Given the description of an element on the screen output the (x, y) to click on. 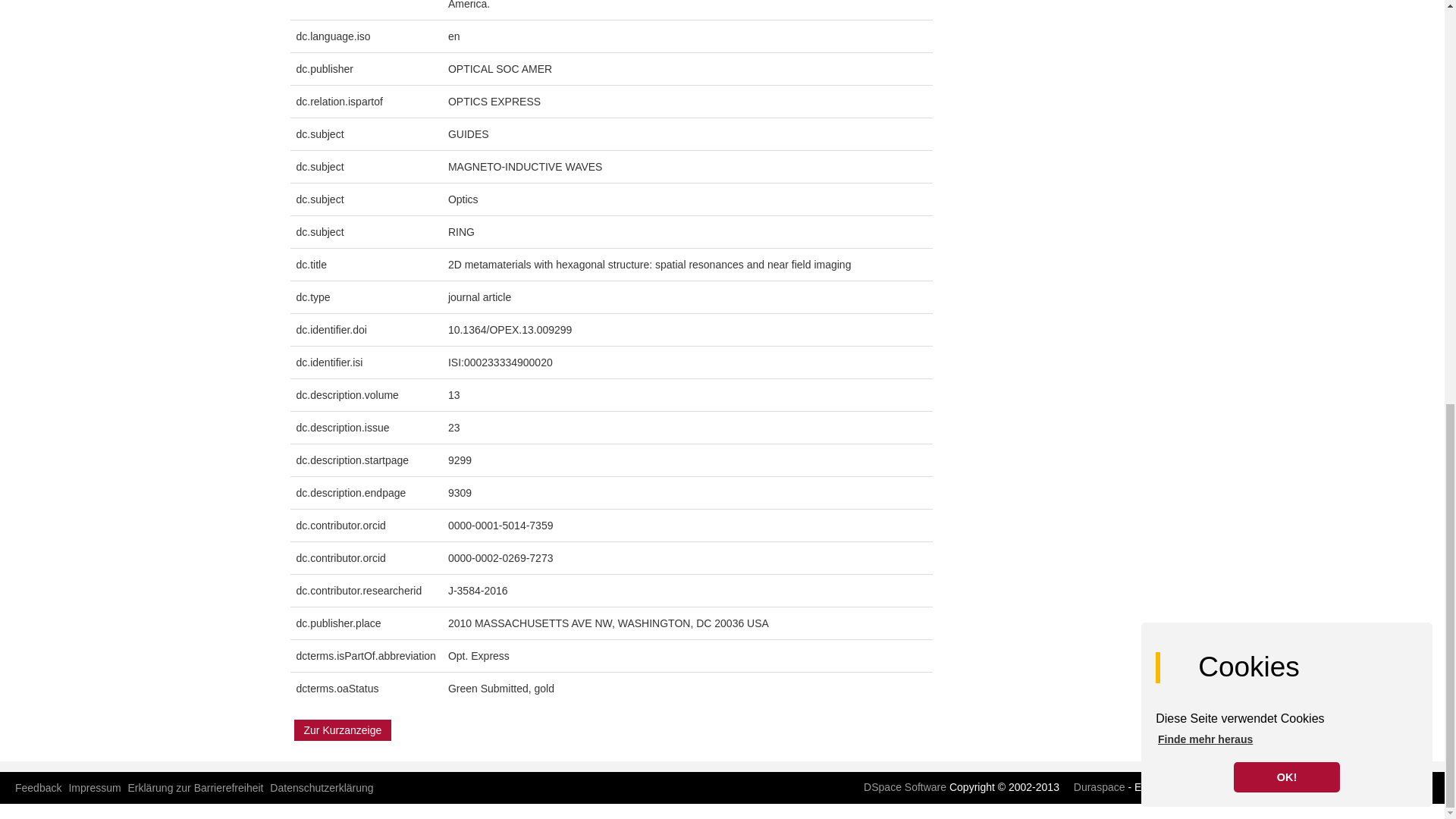
DSpace Software (898, 787)
Feedback (37, 787)
Duraspace (1093, 787)
Zur Kurzanzeige (342, 730)
Impressum (94, 787)
